Given the description of an element on the screen output the (x, y) to click on. 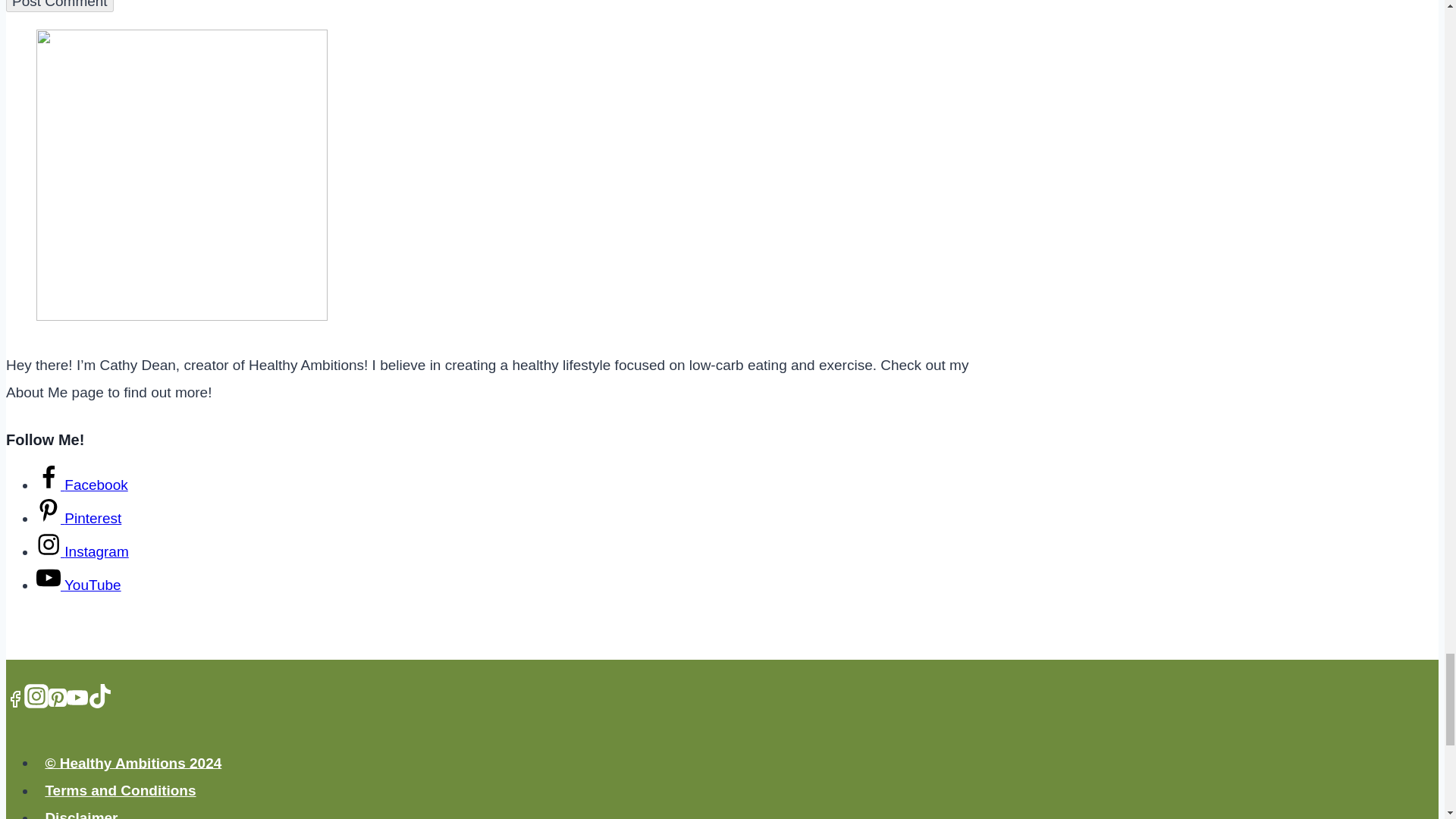
Follow on YouTube (78, 584)
Follow on Instagram (82, 551)
Instagram (36, 695)
Post Comment (59, 6)
Follow on Pinterest (78, 518)
Follow on Facebook (82, 484)
Facebook (14, 699)
